Given the description of an element on the screen output the (x, y) to click on. 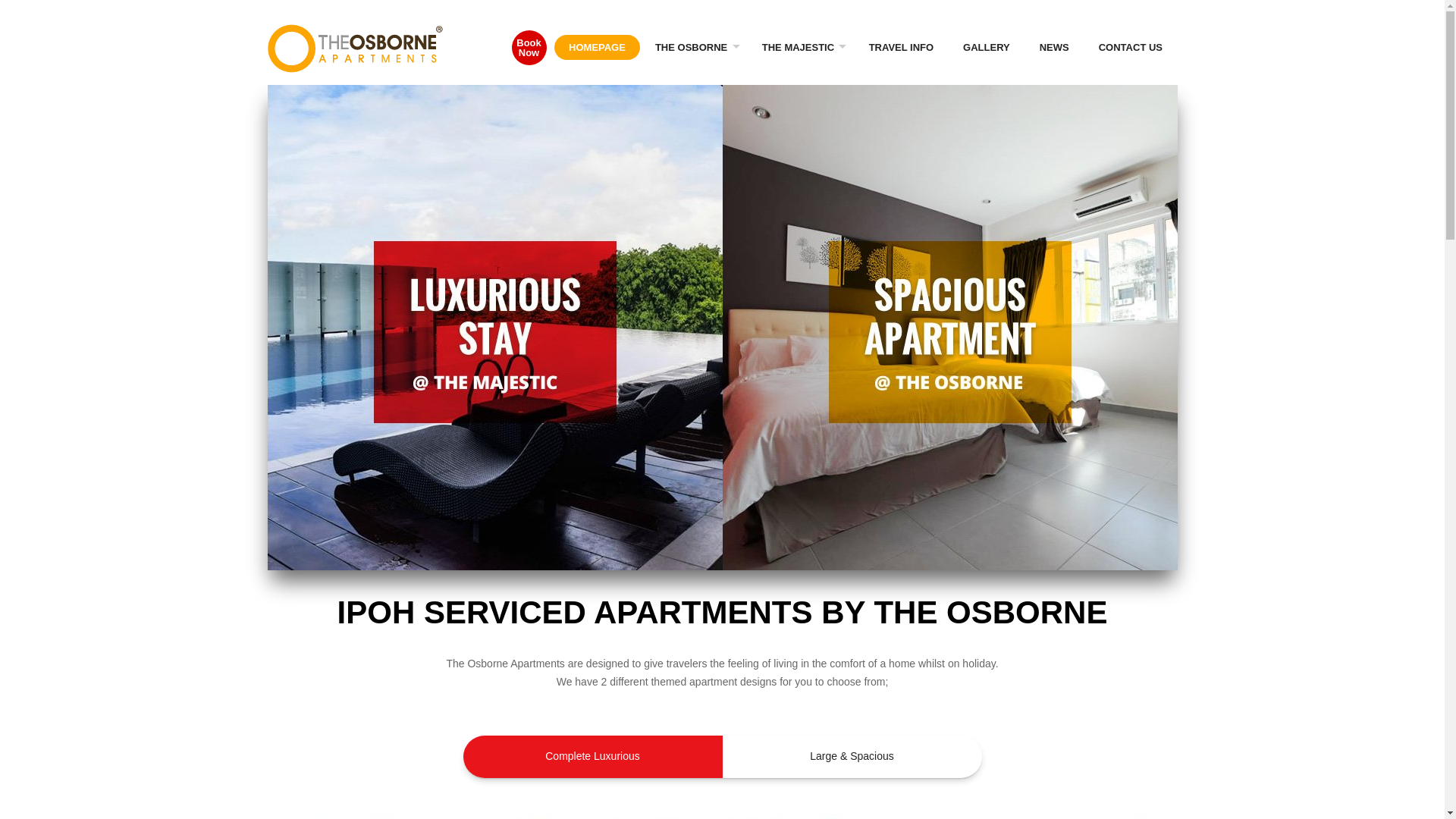
NEWS (1054, 47)
THE OSBORNE (693, 47)
CONTACT US (1129, 47)
HOMEPAGE (597, 47)
TRAVEL INFO (900, 47)
Book Now (529, 47)
The Osborne Ipoh Serviced Apartments (354, 48)
GALLERY (987, 47)
THE MAJESTIC (799, 47)
